Given the description of an element on the screen output the (x, y) to click on. 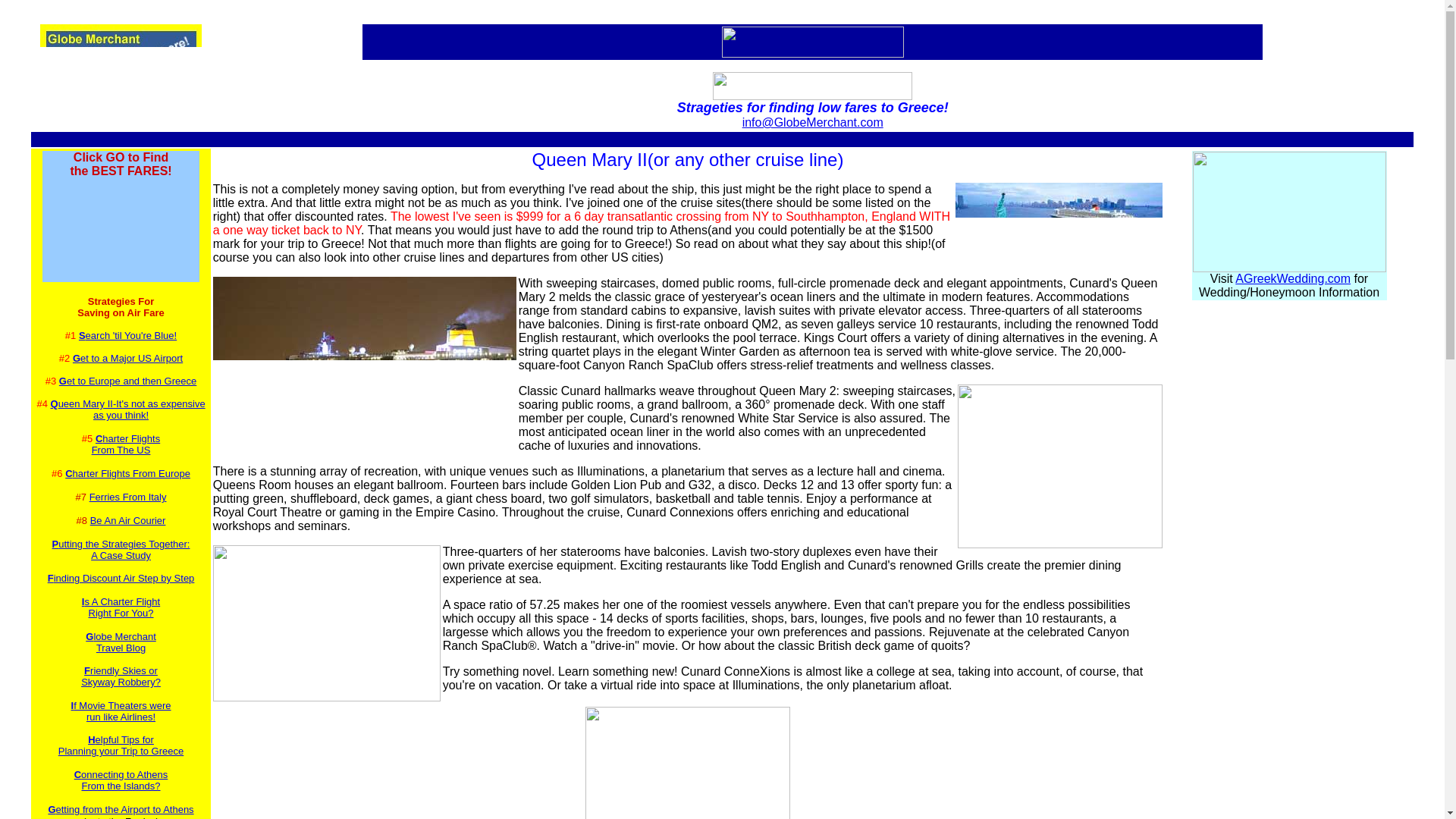
Ferries From Italy (120, 607)
Be An Air Courier (120, 641)
Getting from the Airport to Athens (127, 496)
Charter Flights From Europe (127, 520)
Get to a Major US Airport (120, 808)
